Given the description of an element on the screen output the (x, y) to click on. 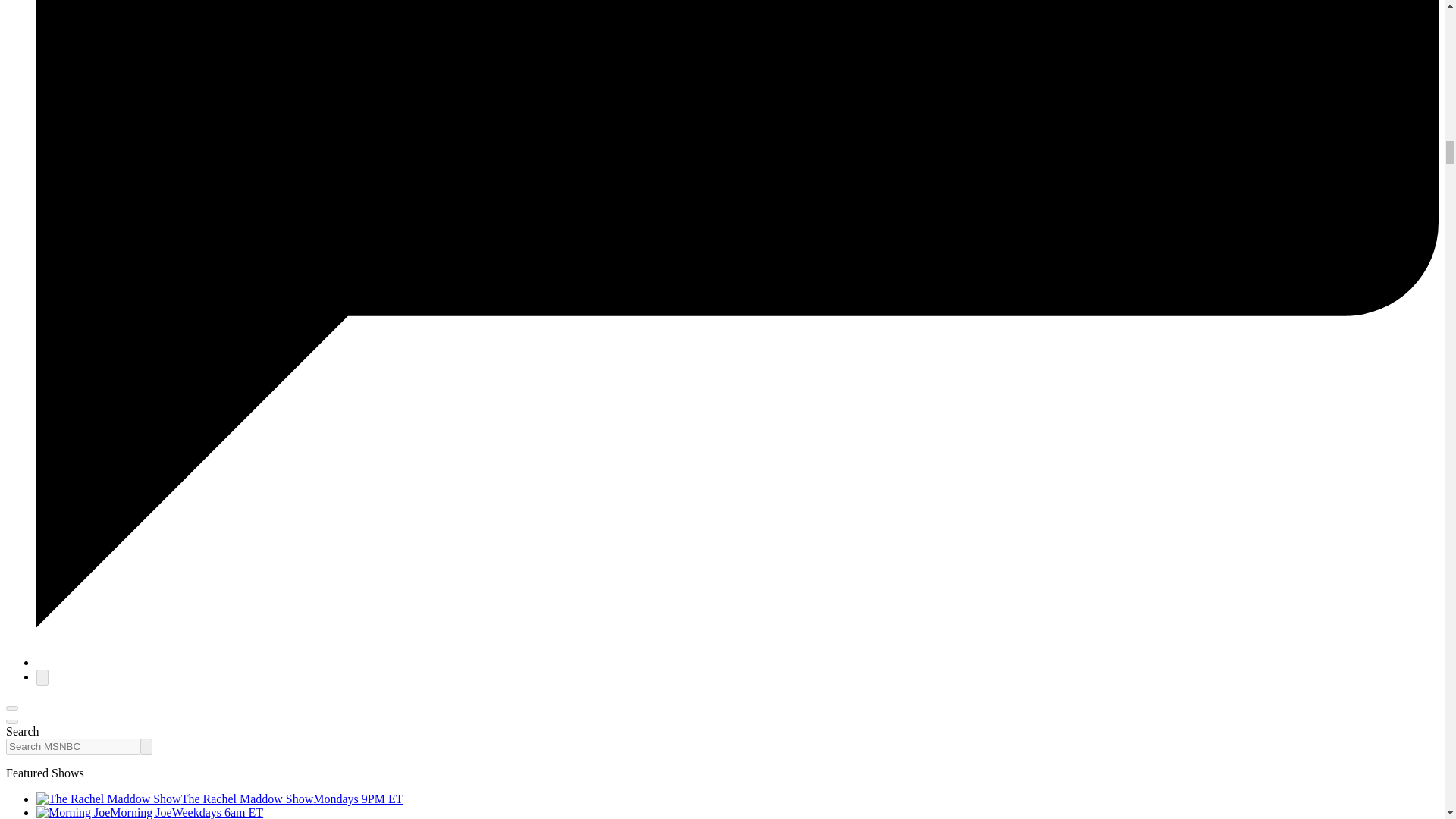
Morning JoeWeekdays 6am ET (149, 812)
The Rachel Maddow ShowMondays 9PM ET (219, 798)
